Given the description of an element on the screen output the (x, y) to click on. 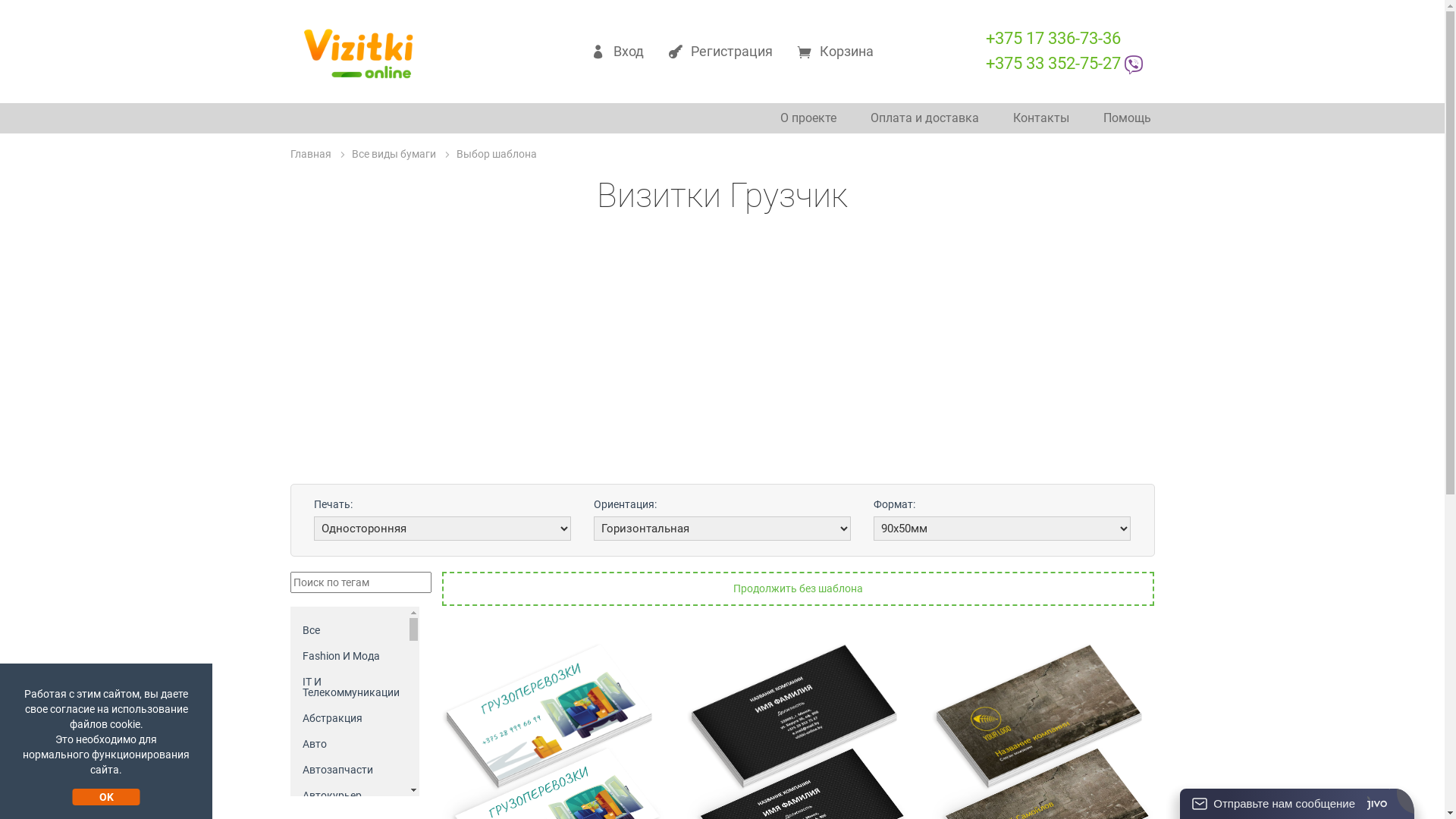
YouTube video player Element type: hover (721, 359)
+375 33 352-75-27 Element type: text (1063, 62)
vizitki-online.by Element type: hover (357, 56)
+375 17 336-73-36 Element type: text (1052, 37)
OK Element type: text (106, 796)
